Given the description of an element on the screen output the (x, y) to click on. 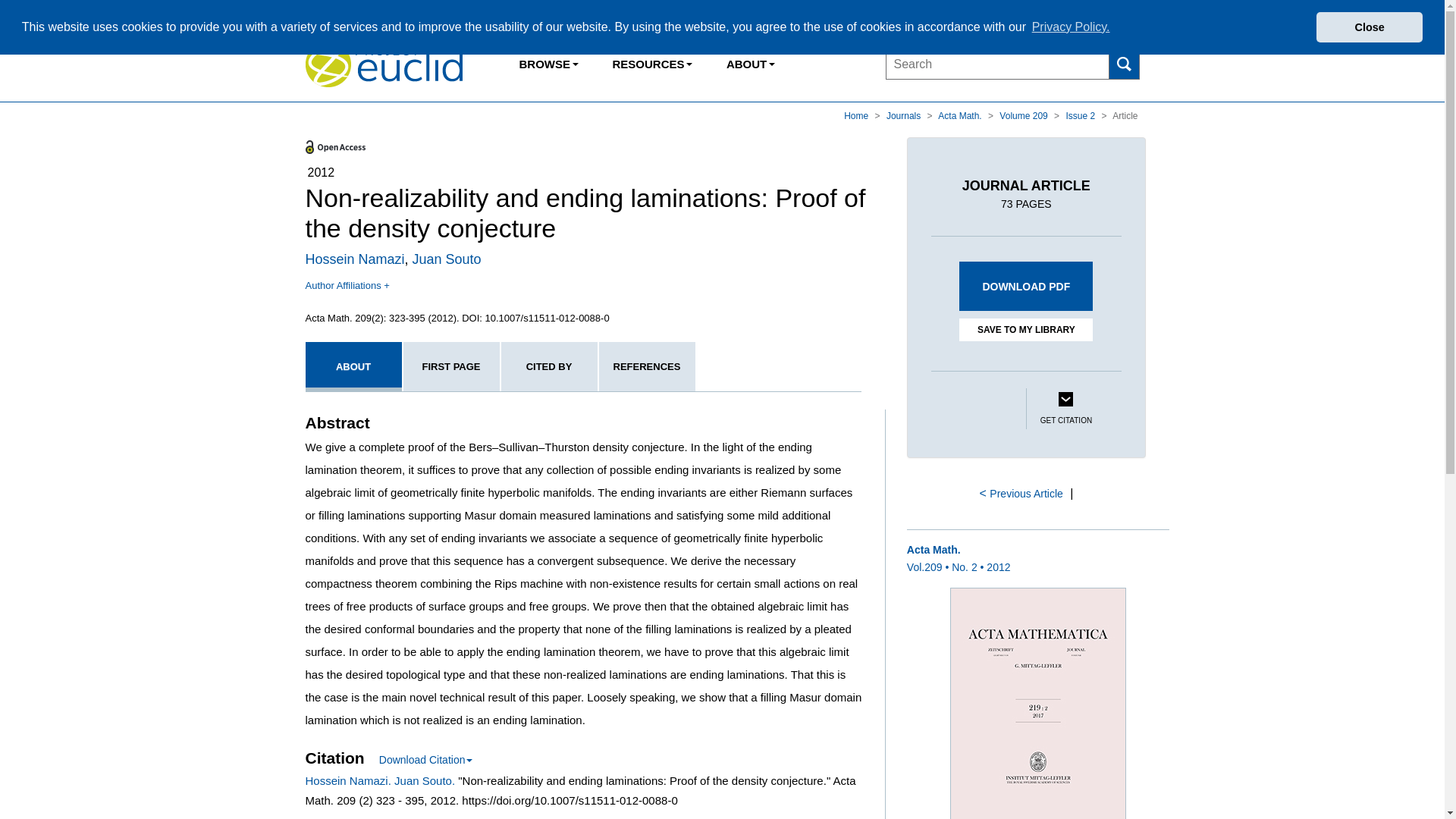
Browse (549, 64)
Privacy Policy. (1070, 26)
FIRST PAGE (451, 366)
Help (1128, 13)
CITED BY (548, 366)
BROWSE (549, 64)
Journals (904, 115)
ABOUT (352, 366)
Help (1128, 13)
Home (857, 115)
Volume 209 (1023, 115)
Journals (904, 115)
ADVANCED SEARCH (1084, 42)
RESOURCES (651, 64)
Acta Math. (960, 115)
